Given the description of an element on the screen output the (x, y) to click on. 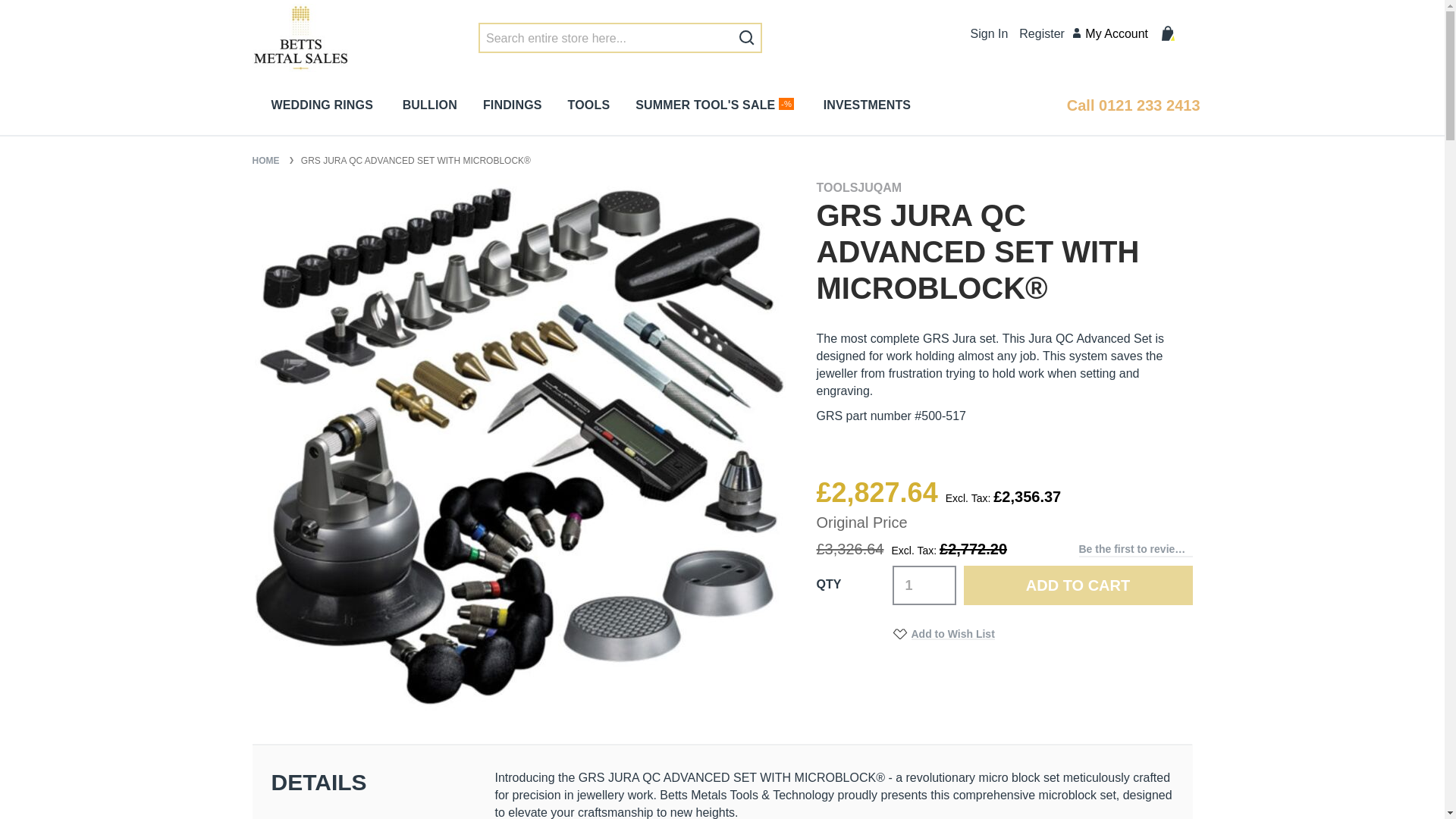
Sign In (990, 33)
My Account (1109, 34)
Betts Metals Sales Betts Group (300, 38)
BULLION (431, 106)
WEDDING RINGS (324, 106)
My Account (1109, 34)
1 (923, 585)
Search (746, 37)
Search (746, 37)
My Cart (1176, 37)
Register (1041, 33)
